Given the description of an element on the screen output the (x, y) to click on. 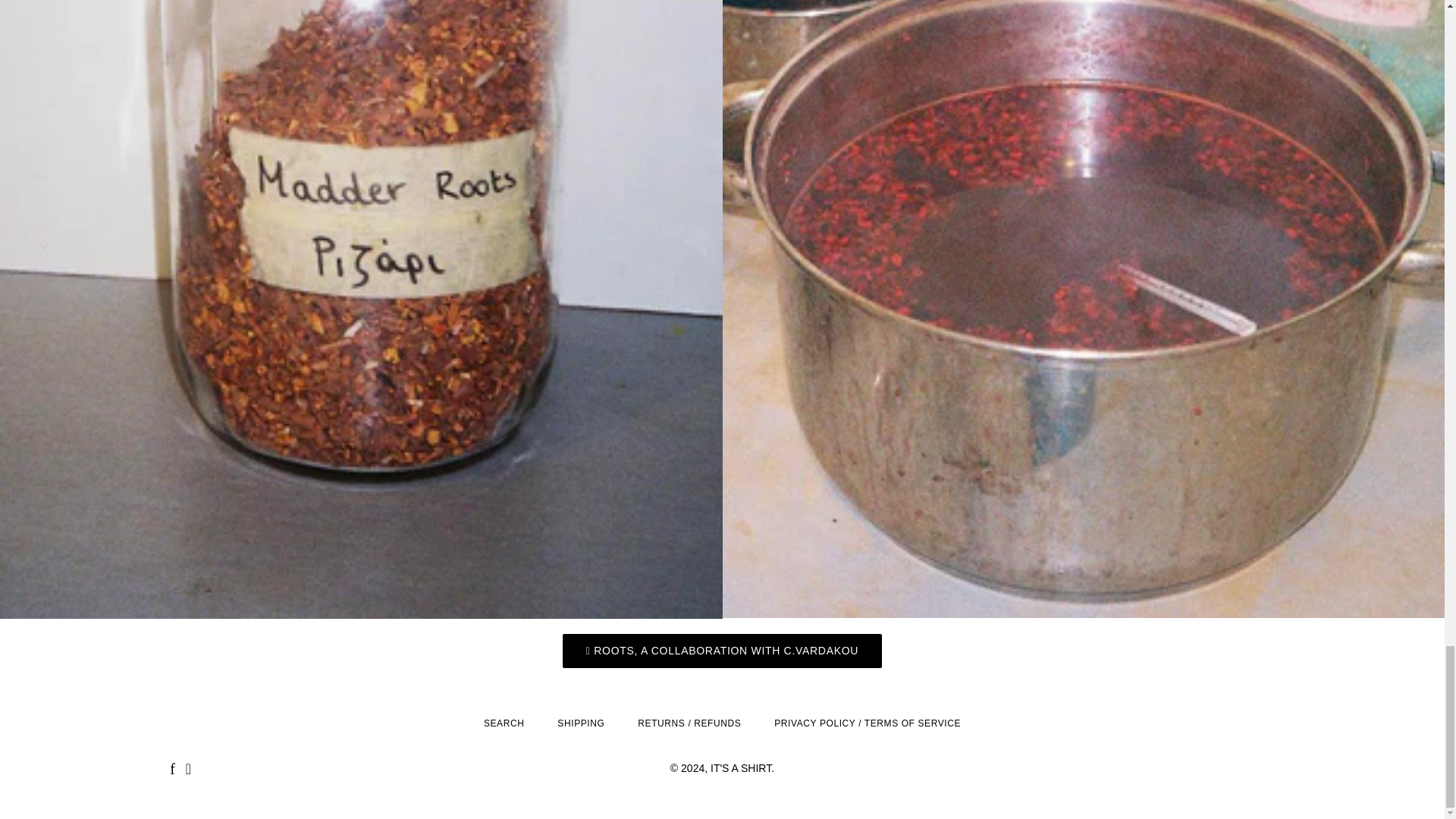
SEARCH (504, 723)
ROOTS, A COLLABORATION WITH C.VARDAKOU (722, 650)
IT'S A SHIRT (740, 767)
SHIPPING (580, 723)
